Given the description of an element on the screen output the (x, y) to click on. 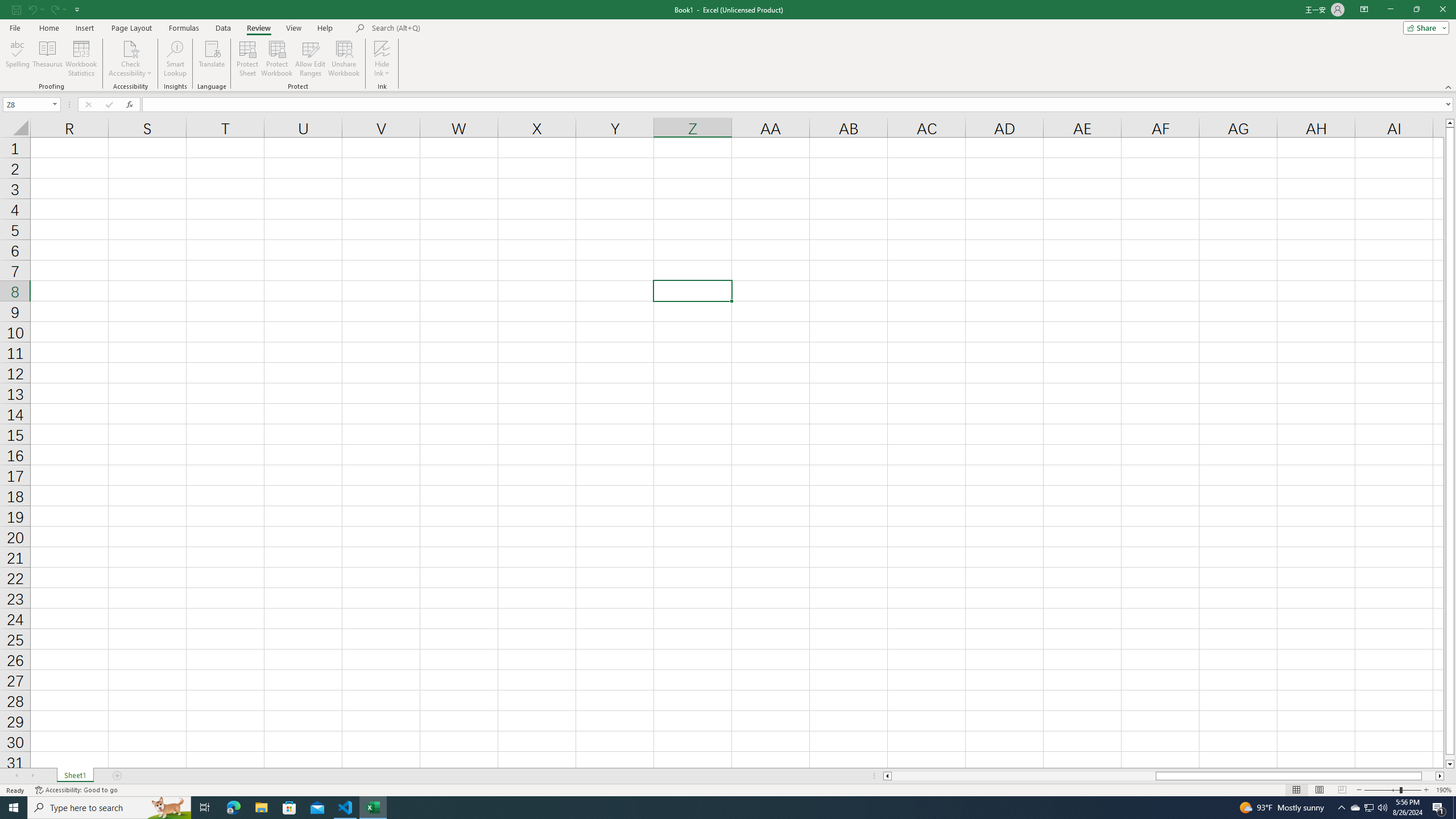
Close (1442, 9)
Microsoft search (450, 28)
Page right (1428, 775)
Home (48, 28)
Help (325, 28)
